Given the description of an element on the screen output the (x, y) to click on. 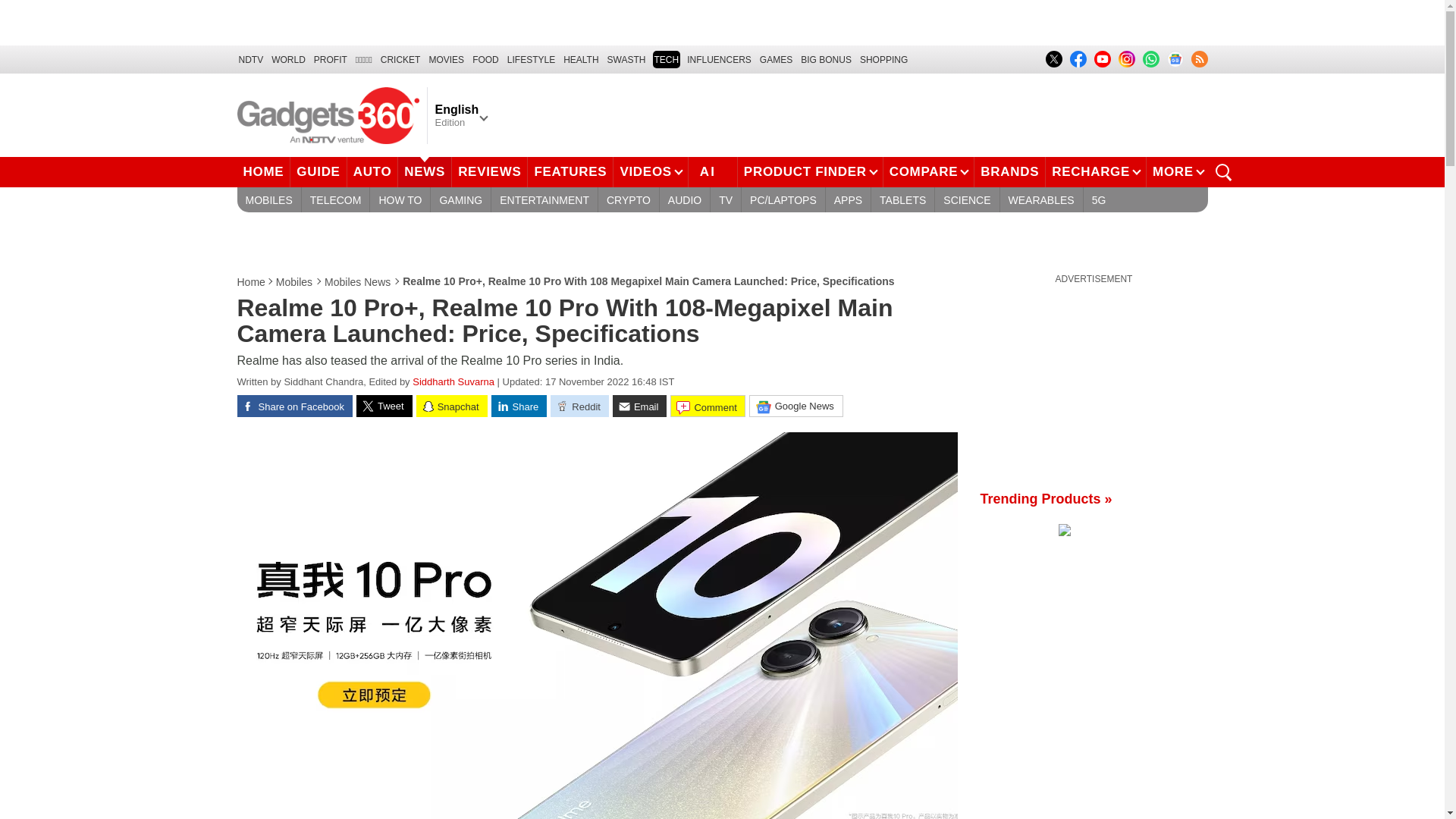
NEWS (424, 172)
World (288, 58)
Games (775, 58)
HEALTH (580, 58)
LIFESTYLE (530, 58)
TECH (665, 58)
INFLUENCERS (718, 58)
WORLD (288, 58)
NDTV (249, 58)
FOOD (485, 58)
